Given the description of an element on the screen output the (x, y) to click on. 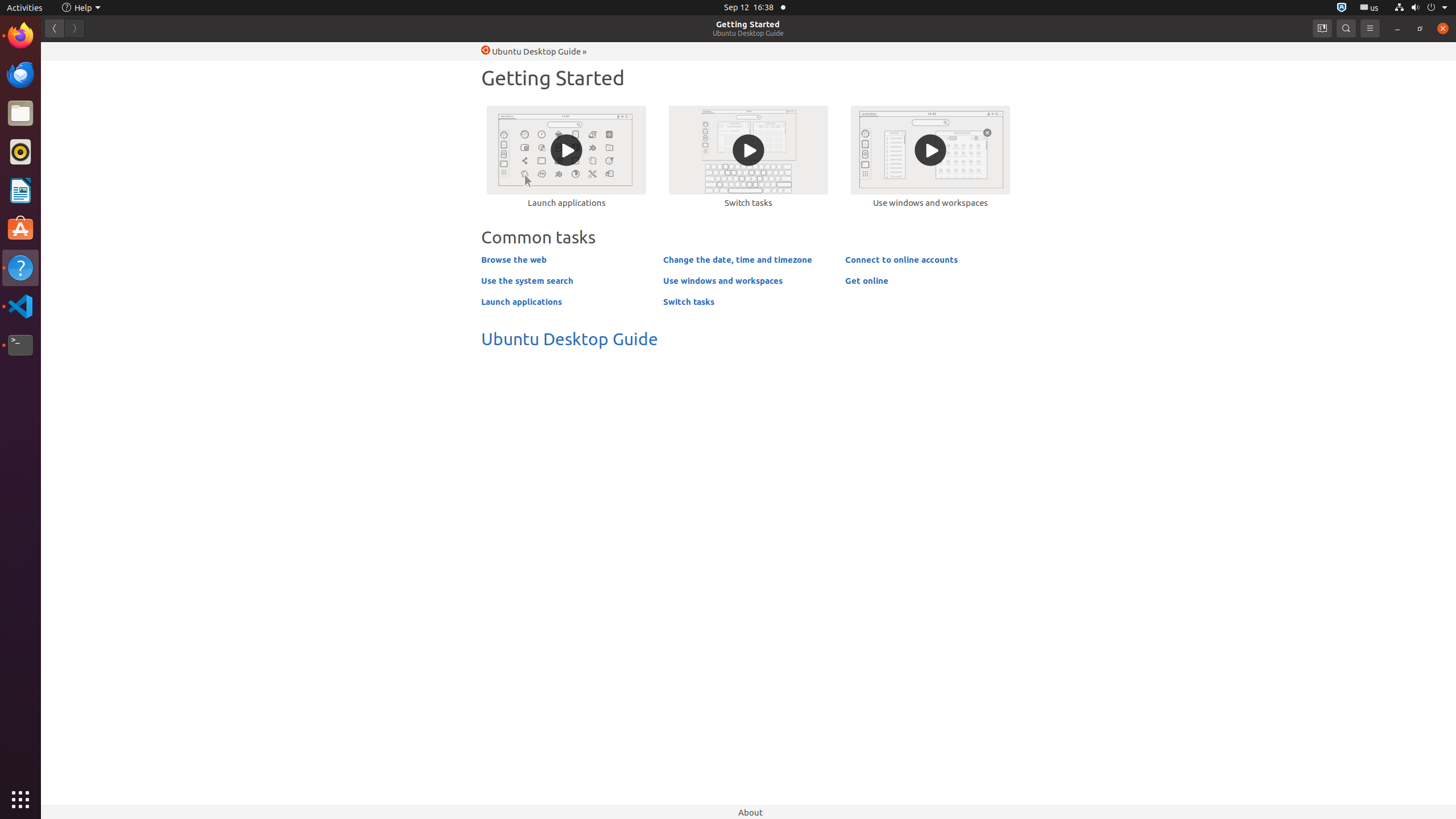
Change the date, time and timezone Element type: link (737, 259)
